Given the description of an element on the screen output the (x, y) to click on. 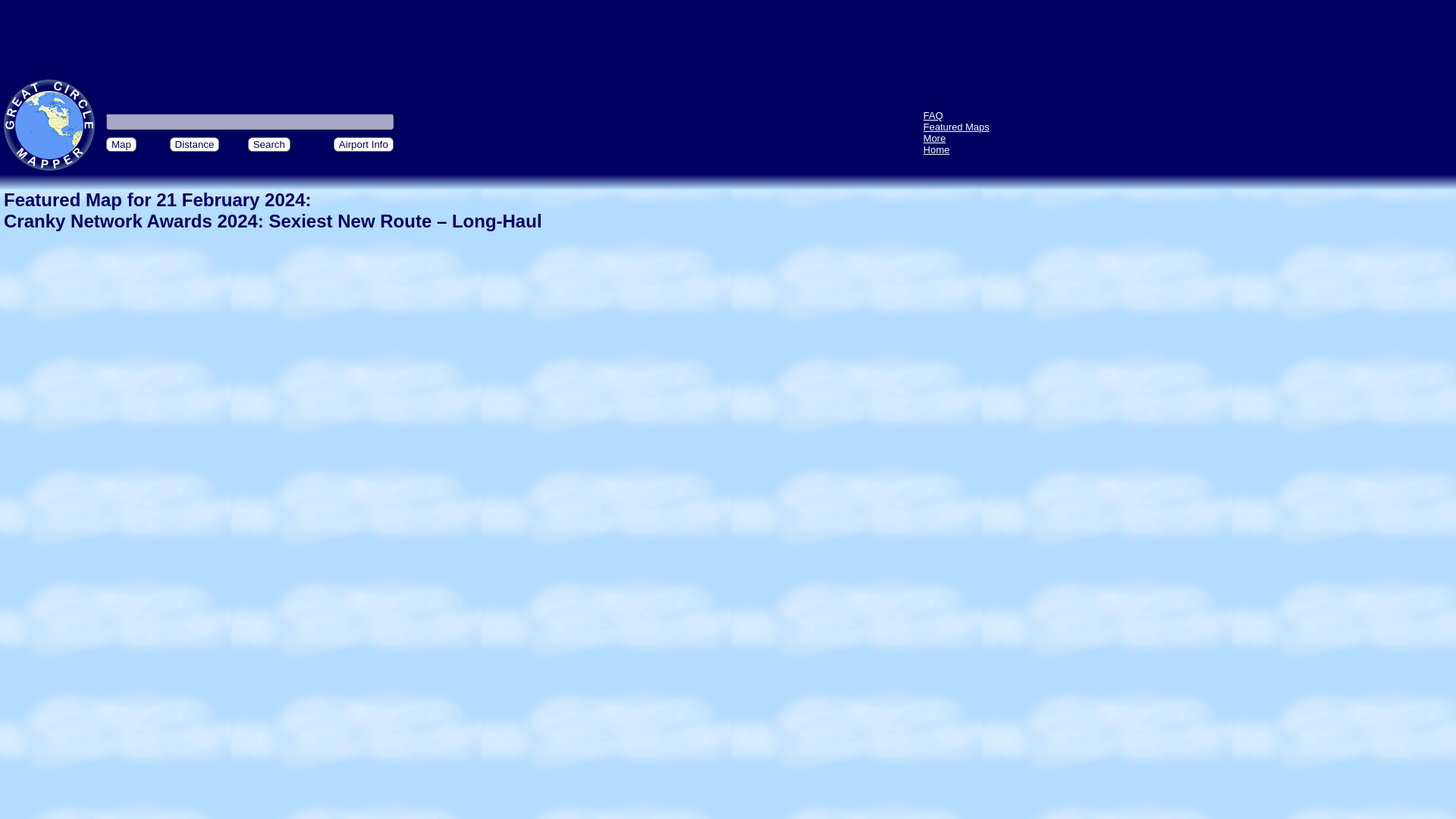
Map (121, 144)
Airport Info (363, 144)
Home (936, 149)
Detailed information for an airport code (363, 144)
Search (268, 144)
FAQ (933, 115)
Distance (194, 144)
More (934, 138)
Search (268, 144)
Advertisement (727, 37)
